Given the description of an element on the screen output the (x, y) to click on. 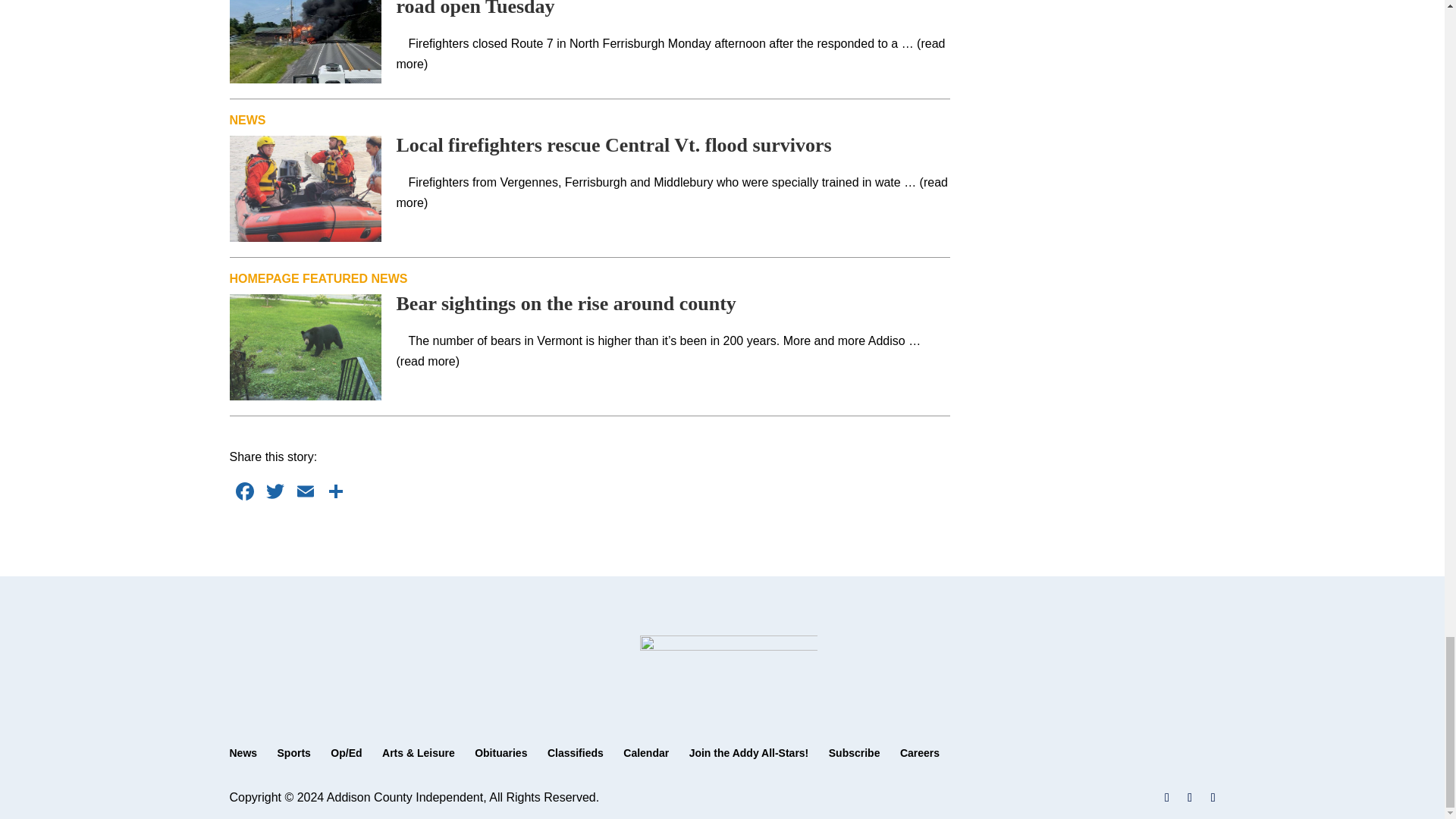
Facebook (243, 492)
Email (304, 492)
Twitter (274, 492)
